Given the description of an element on the screen output the (x, y) to click on. 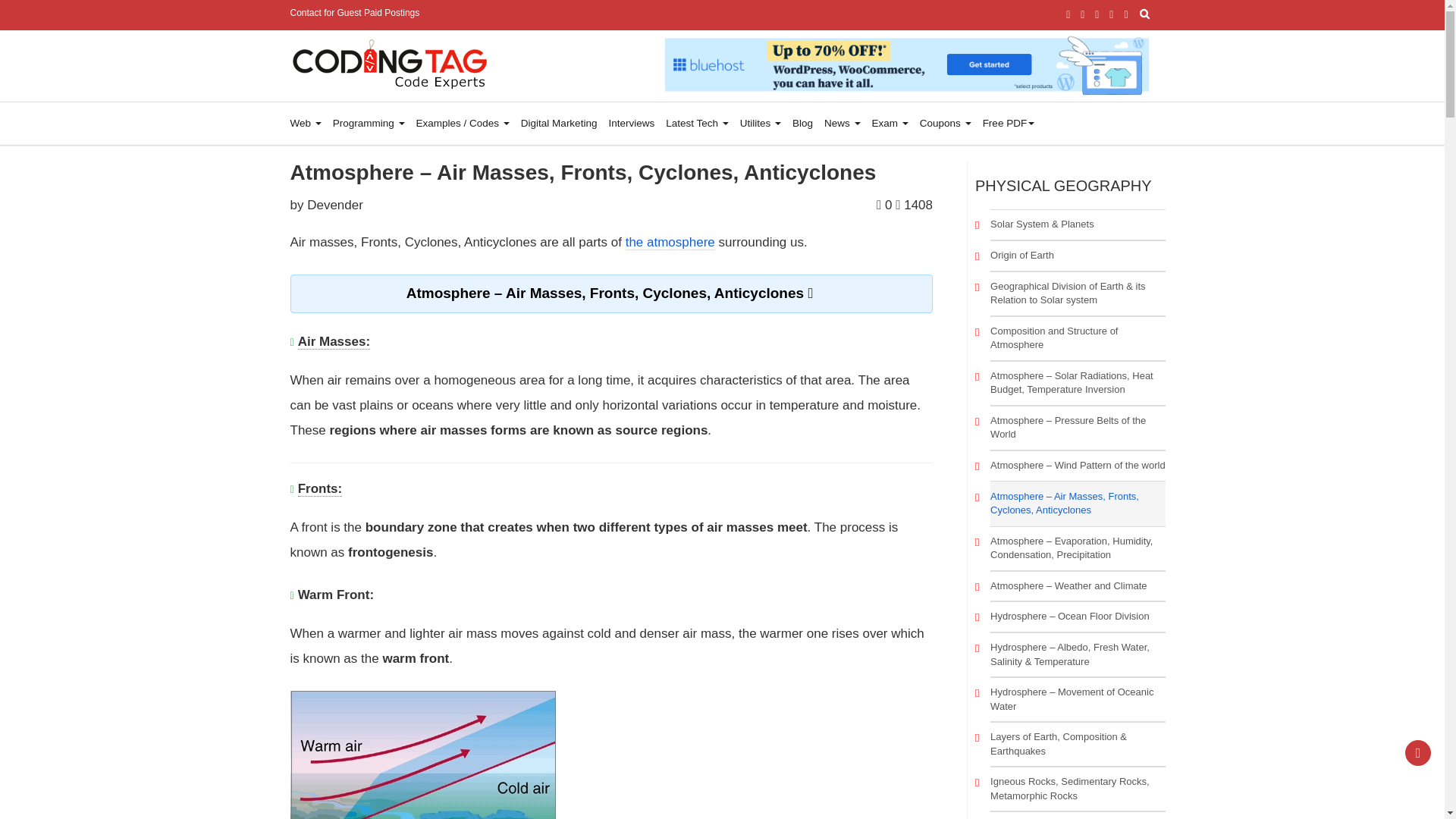
Programming (374, 123)
Search (29, 13)
Web (310, 123)
Utilites (765, 123)
Contact for Guest Paid Postings (361, 12)
Latest Tech (702, 123)
Interviews (636, 123)
Digital Marketing (564, 123)
